Given the description of an element on the screen output the (x, y) to click on. 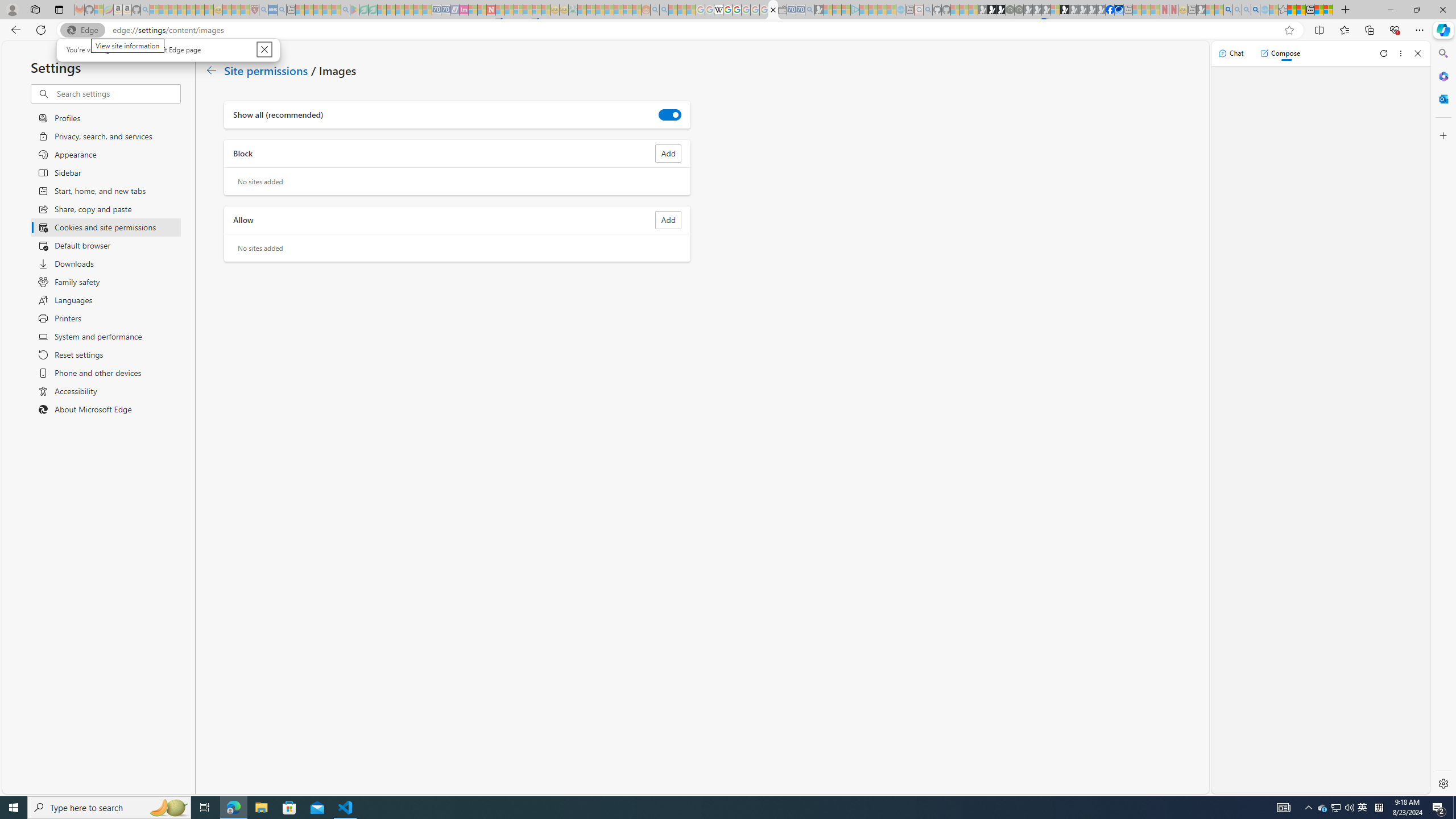
Type here to search (1335, 807)
